Given the description of an element on the screen output the (x, y) to click on. 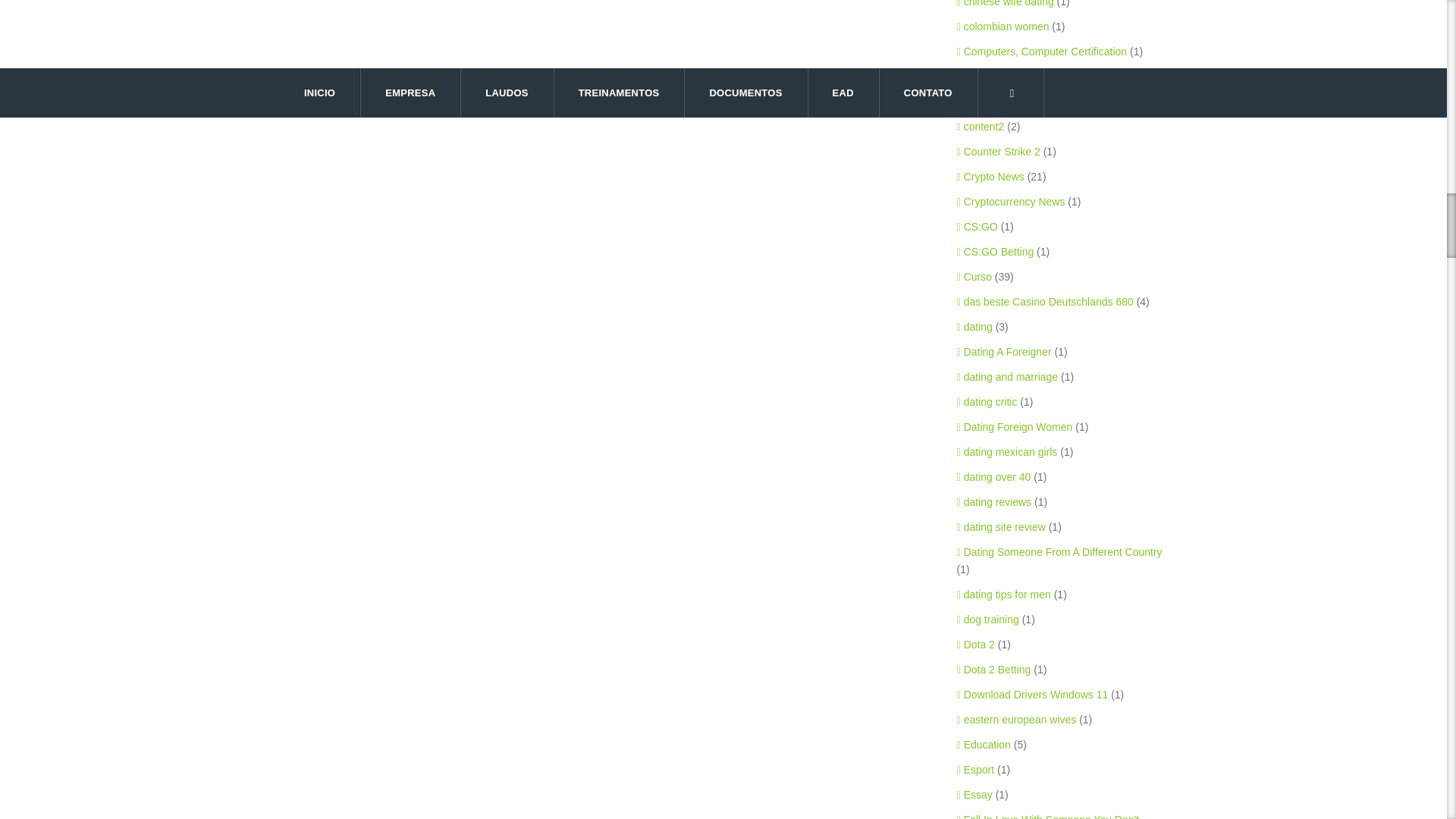
Computers, Software (1010, 76)
Computers, Computer Certification (1041, 51)
